Given the description of an element on the screen output the (x, y) to click on. 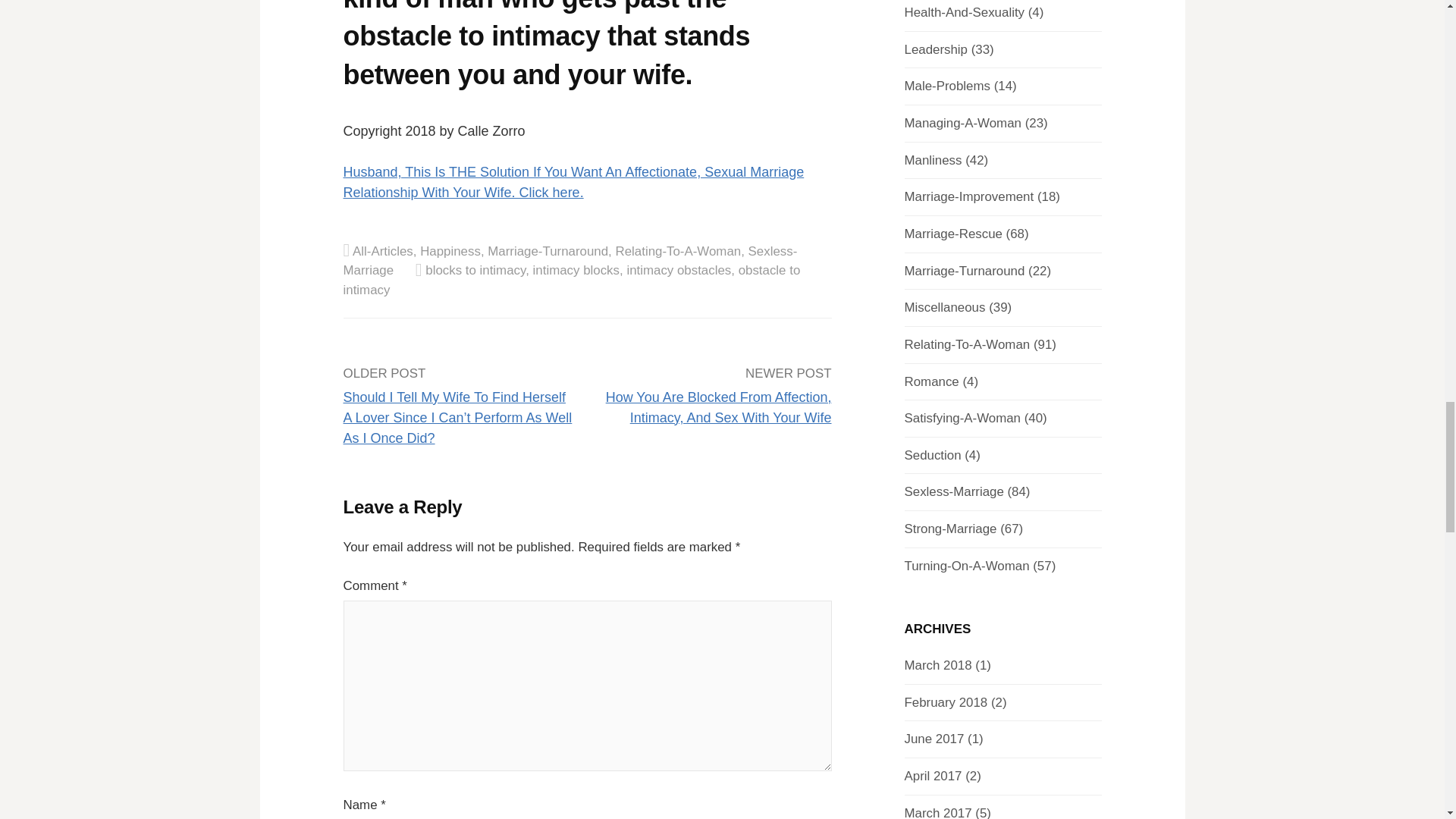
Marriage-Turnaround (547, 251)
intimacy blocks (576, 269)
Happiness (450, 251)
obstacle to intimacy (570, 279)
Sexless-Marriage (569, 261)
blocks to intimacy (475, 269)
All-Articles (382, 251)
intimacy obstacles (678, 269)
Relating-To-A-Woman (677, 251)
